Given the description of an element on the screen output the (x, y) to click on. 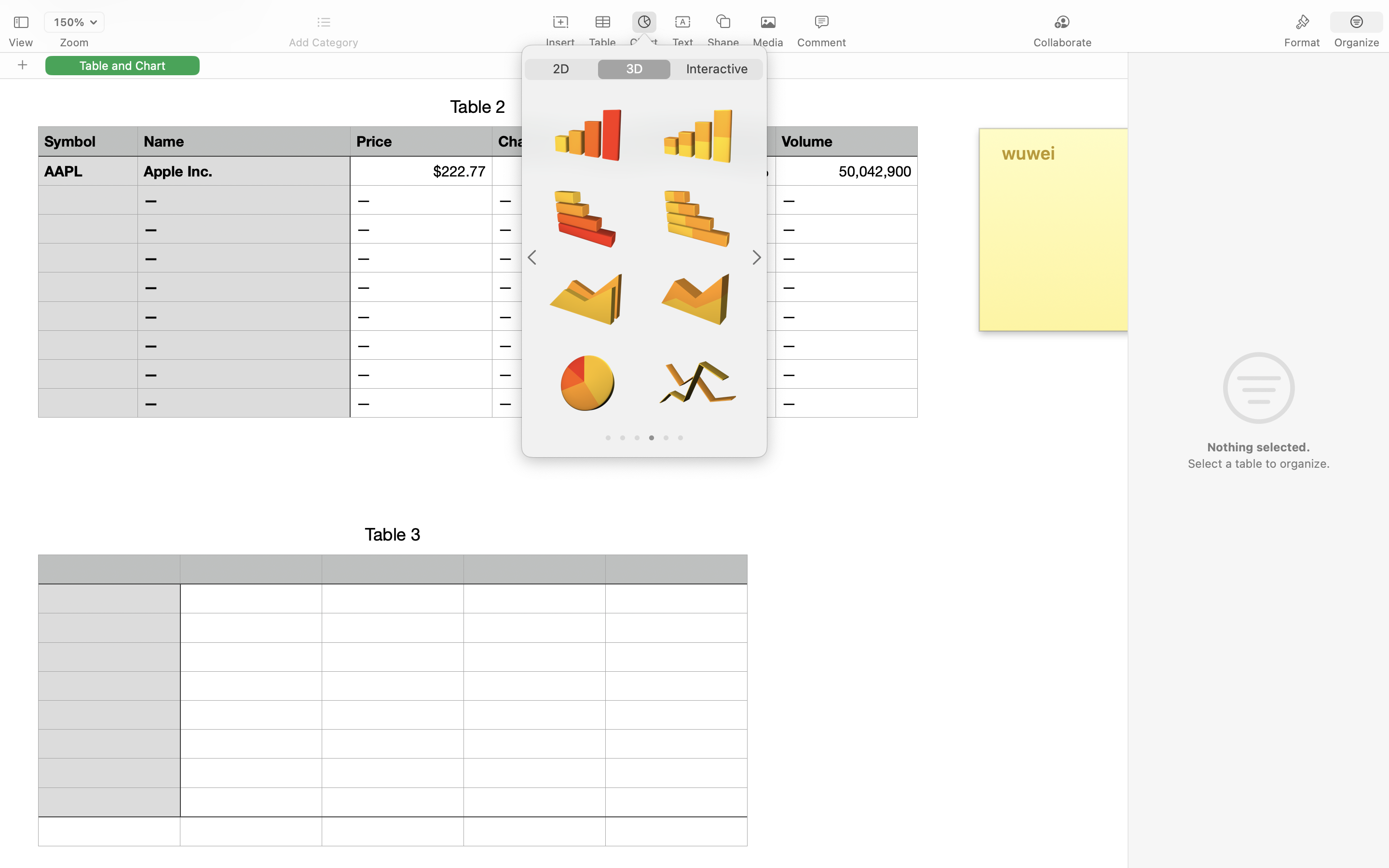
Insert Element type: AXStaticText (560, 42)
Untitled Element type: AXStaticText (667, 12)
Zoom Element type: AXStaticText (73, 42)
